Given the description of an element on the screen output the (x, y) to click on. 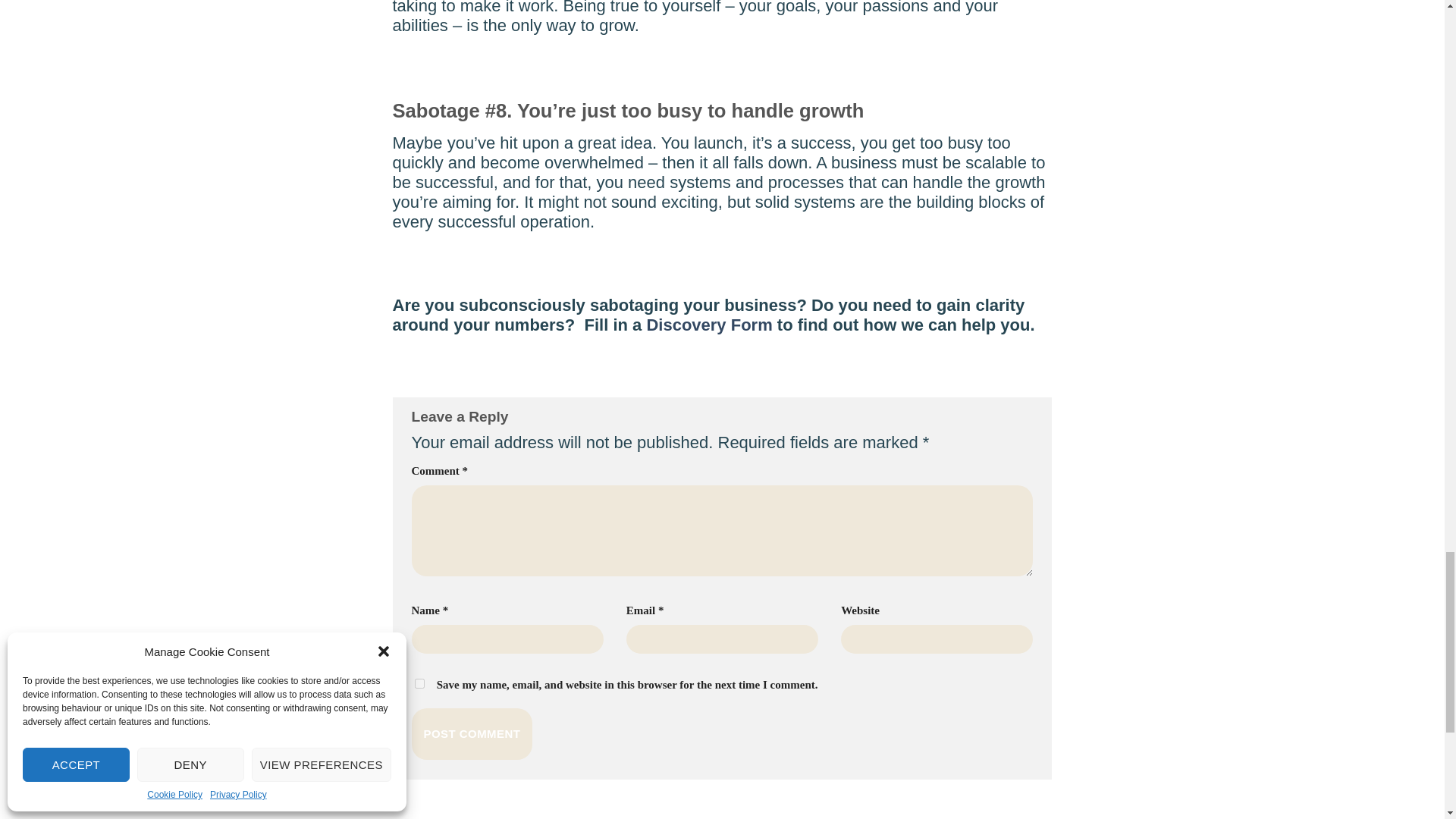
Post Comment (471, 734)
Discovery Form (708, 324)
yes (418, 683)
Post Comment (471, 734)
